Given the description of an element on the screen output the (x, y) to click on. 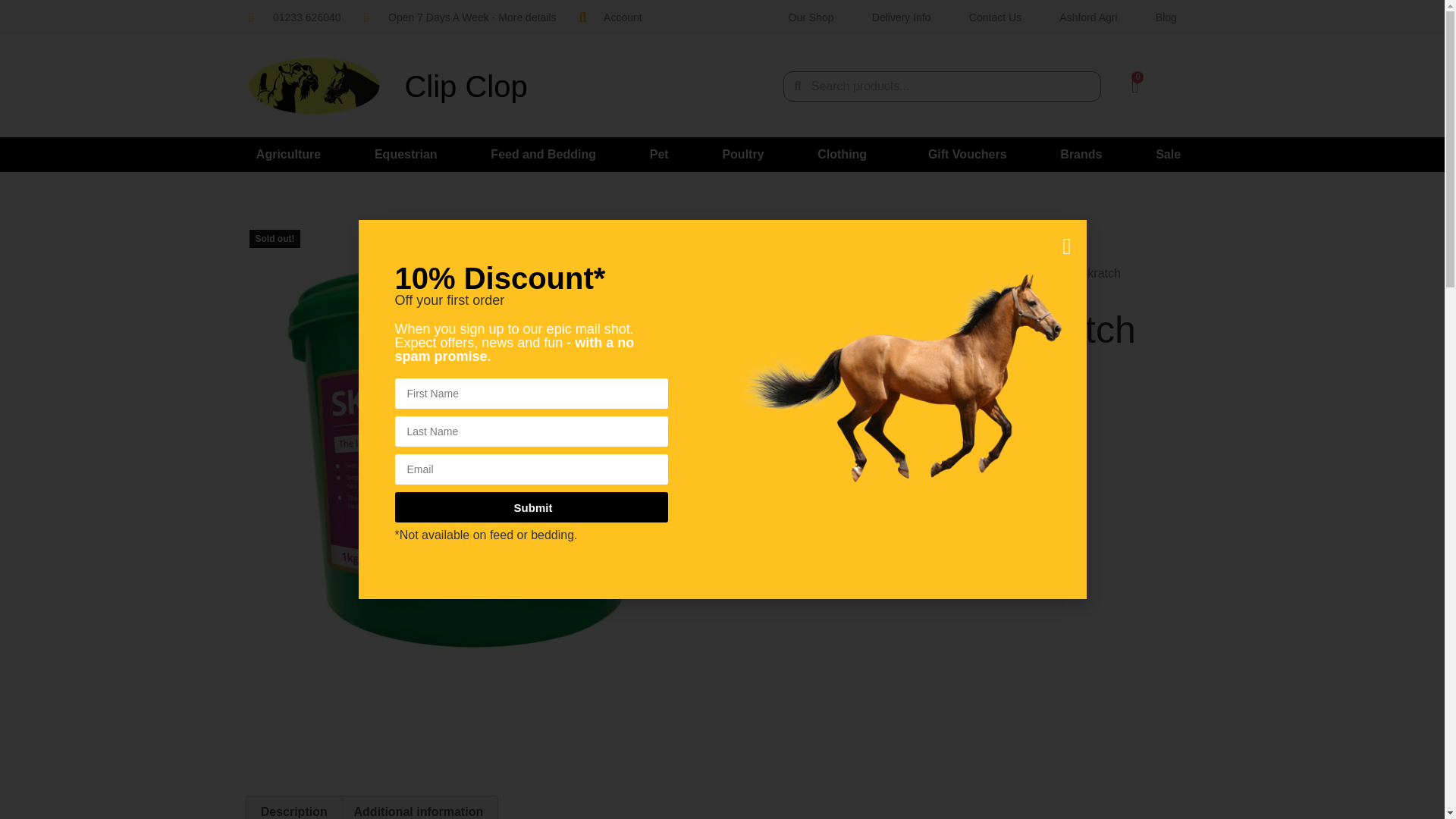
Open 7 Days A Week - More details (460, 17)
Poultry (742, 154)
01233 626040 (294, 17)
Our Shop (809, 17)
Contact Us (995, 17)
Gift Vouchers (967, 154)
Feed and Bedding (543, 154)
Equestrian (405, 154)
Account (610, 17)
Blog (1166, 17)
Agriculture (287, 154)
Sale (1172, 154)
Pet (659, 154)
Brands (1081, 154)
